Given the description of an element on the screen output the (x, y) to click on. 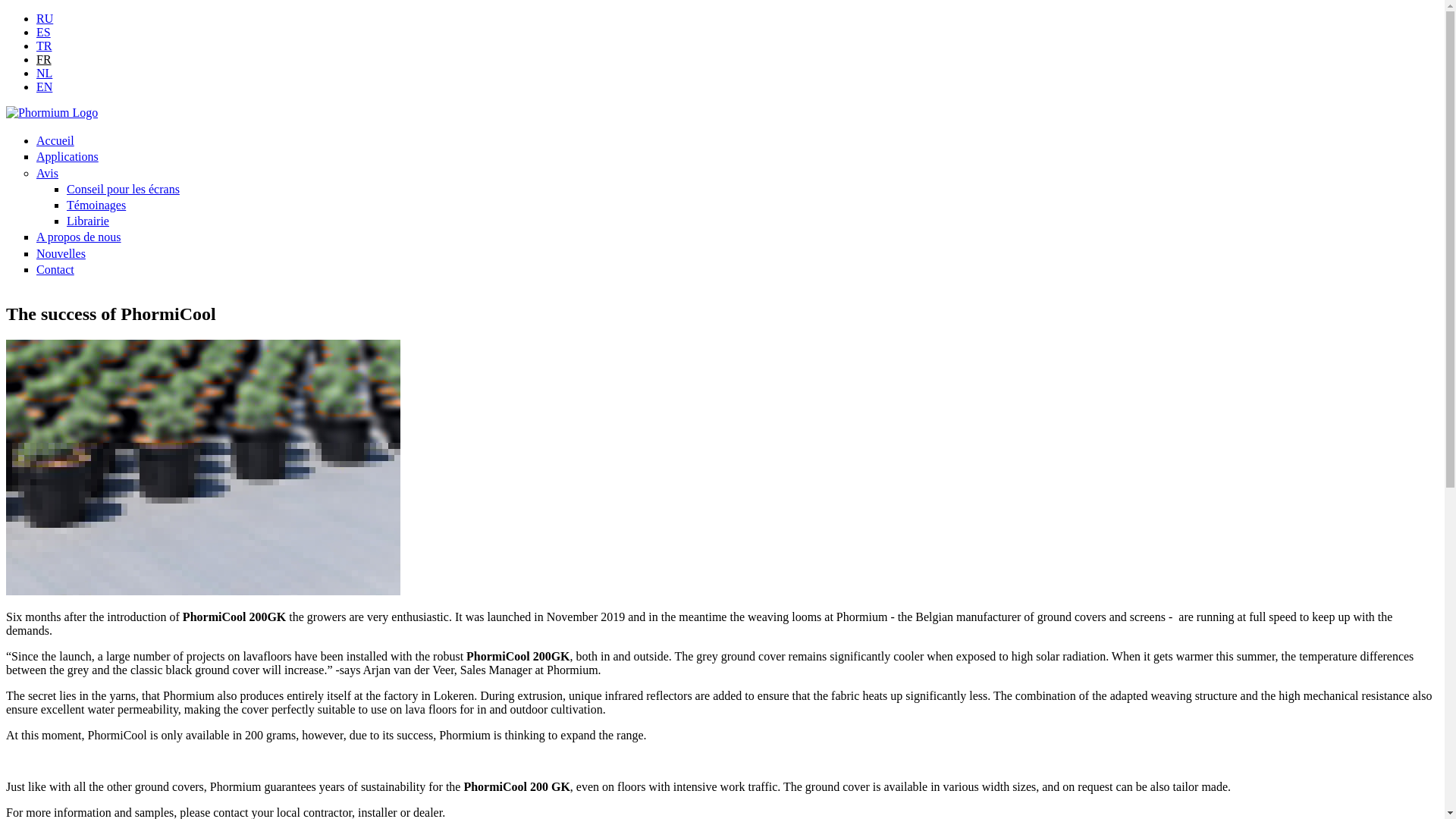
FR (43, 59)
Avis (47, 173)
Grijs gronddoek, PhormiCool, slaat aan.  (44, 72)
ES (43, 31)
A propos de nous (78, 236)
Contact (55, 269)
Librairie (87, 220)
The success of PhormiCool (44, 86)
EN (44, 86)
Accueil (55, 140)
TR (43, 45)
Nouvelles (60, 253)
NL (44, 72)
Applications (67, 155)
RU (44, 18)
